Given the description of an element on the screen output the (x, y) to click on. 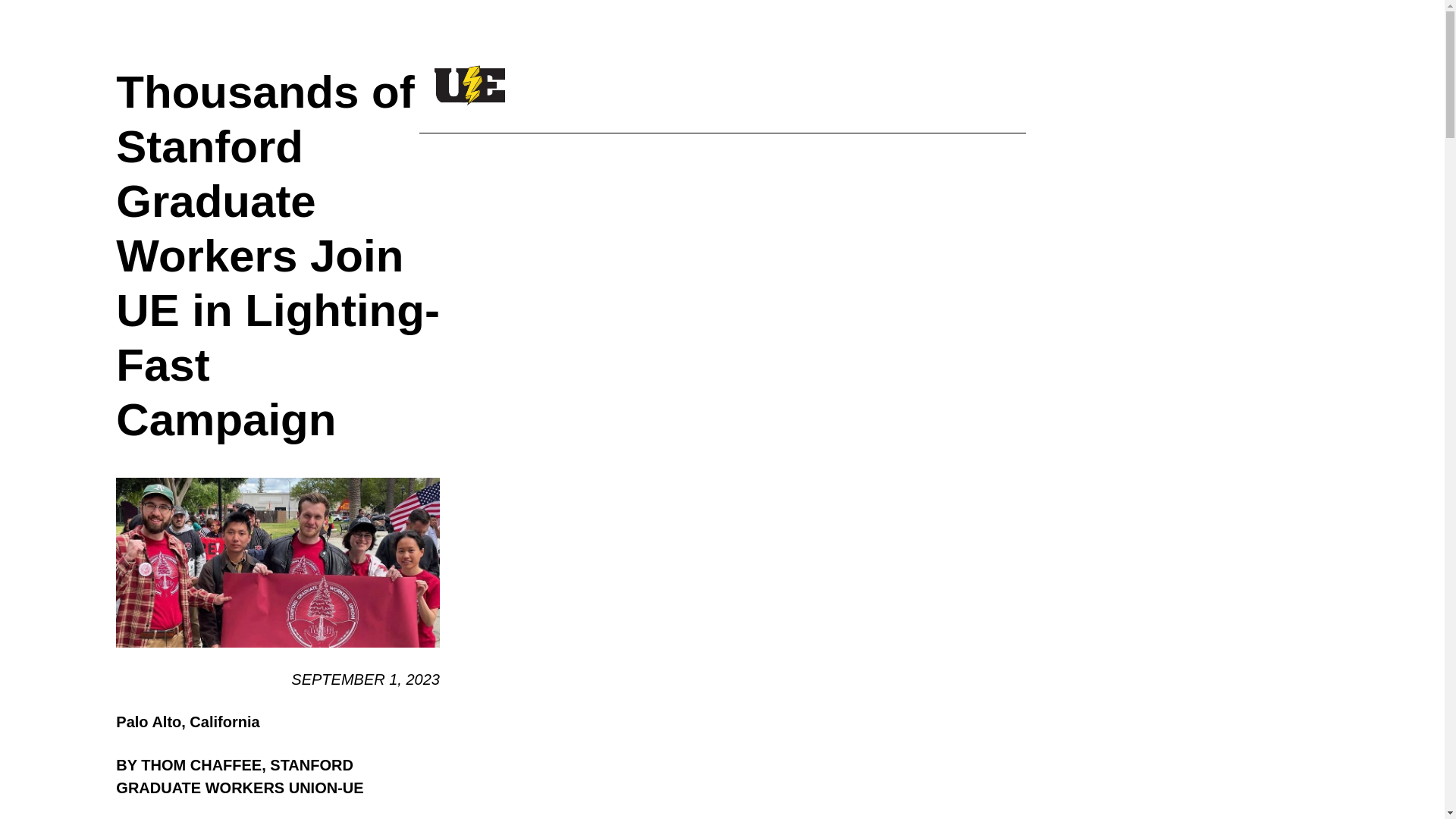
Home (468, 85)
